Given the description of an element on the screen output the (x, y) to click on. 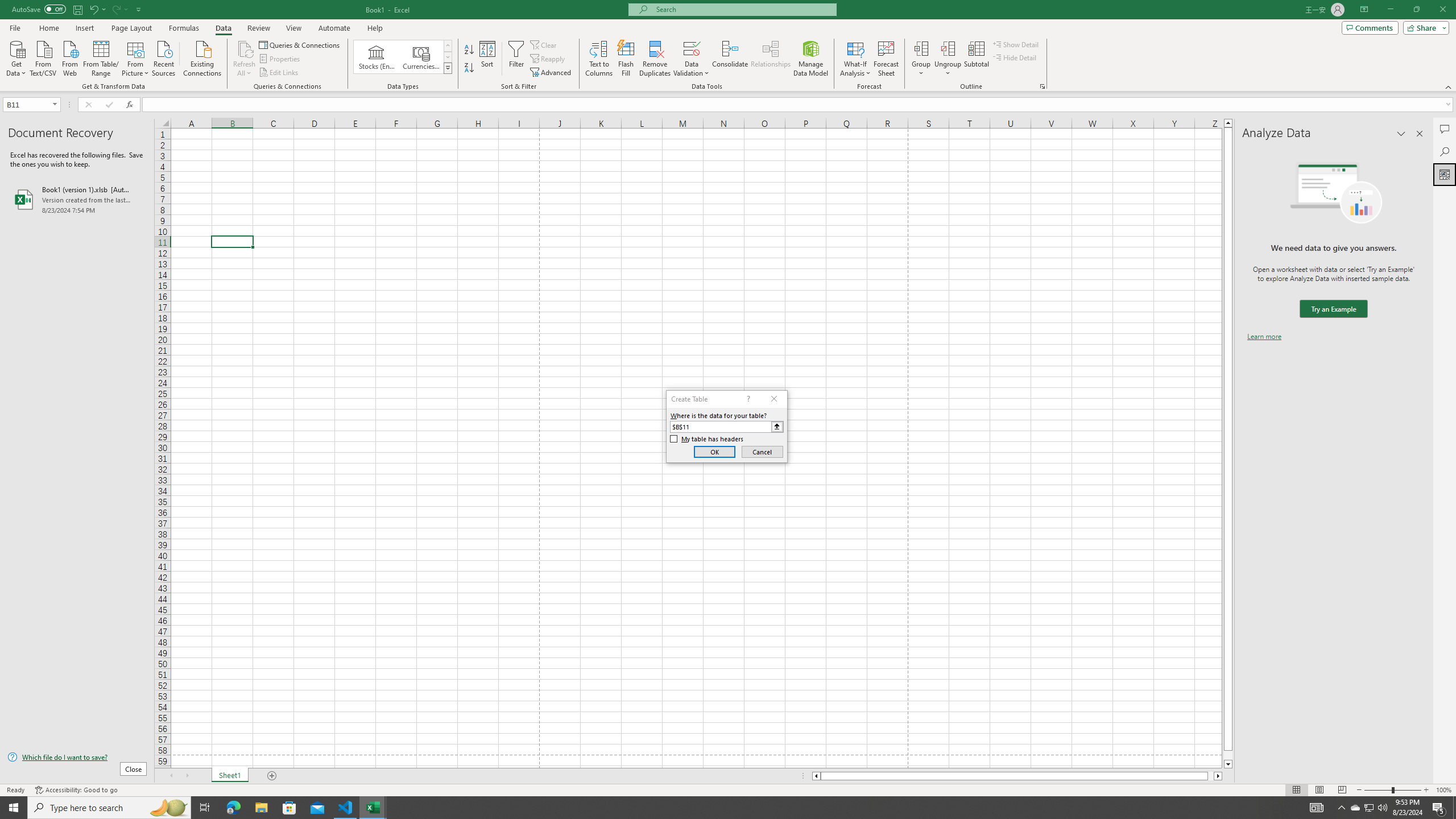
Sort A to Z (469, 49)
Group... (921, 48)
Zoom Out (1377, 790)
Review (258, 28)
Customize Quick Access Toolbar (139, 9)
Task Pane Options (1400, 133)
Page right (1211, 775)
From Web (69, 57)
Column left (815, 775)
We need data to give you answers. Try an Example (1333, 308)
Refresh All (244, 58)
Accessibility Checker Accessibility: Good to go (76, 790)
Advanced... (551, 72)
Column right (1218, 775)
Row up (448, 45)
